Given the description of an element on the screen output the (x, y) to click on. 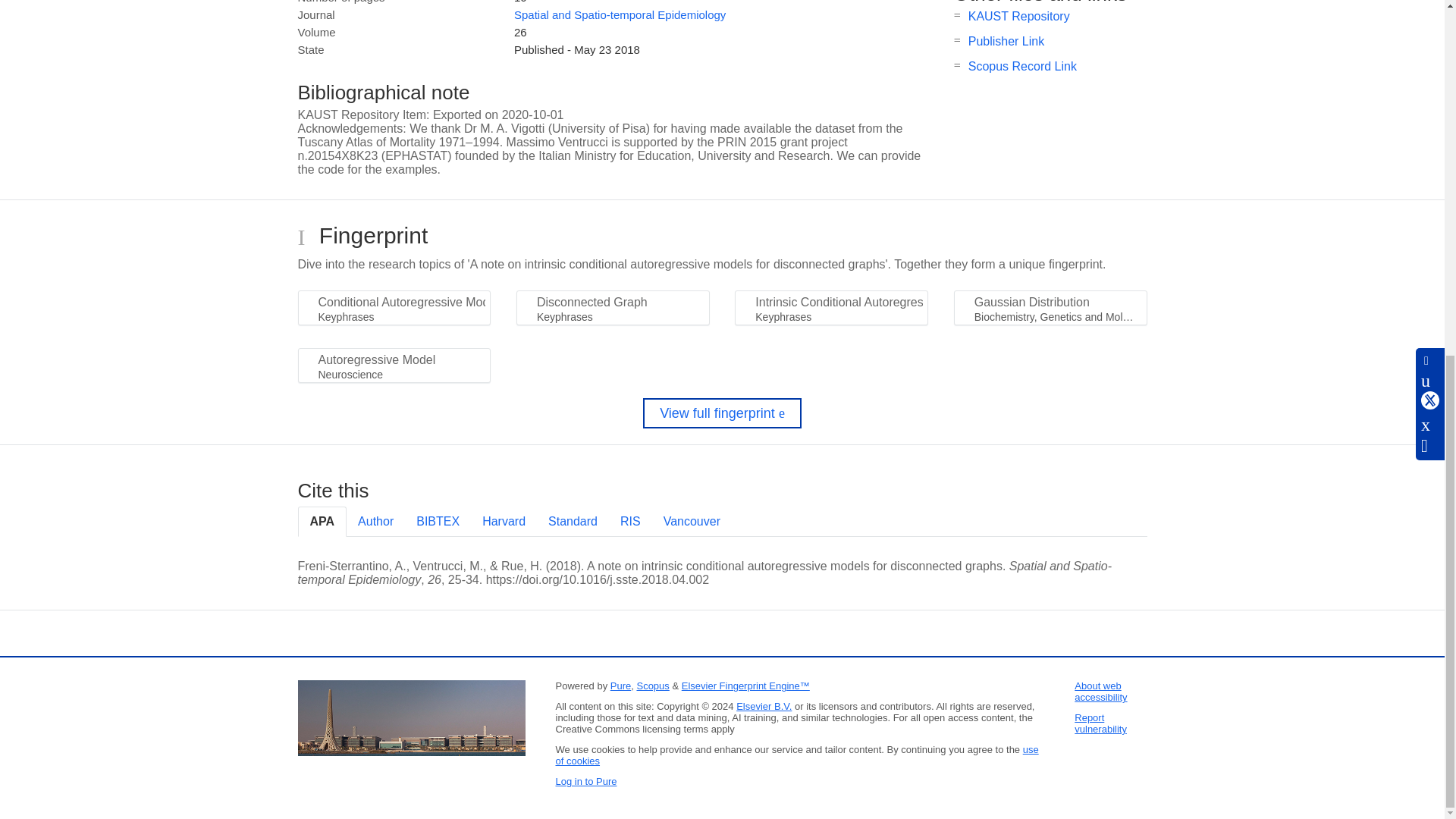
Pure (620, 685)
KAUST Repository (1019, 15)
View full fingerprint (722, 413)
Spatial and Spatio-temporal Epidemiology (619, 14)
Scopus Record Link (1022, 65)
Publisher Link (1006, 41)
